Given the description of an element on the screen output the (x, y) to click on. 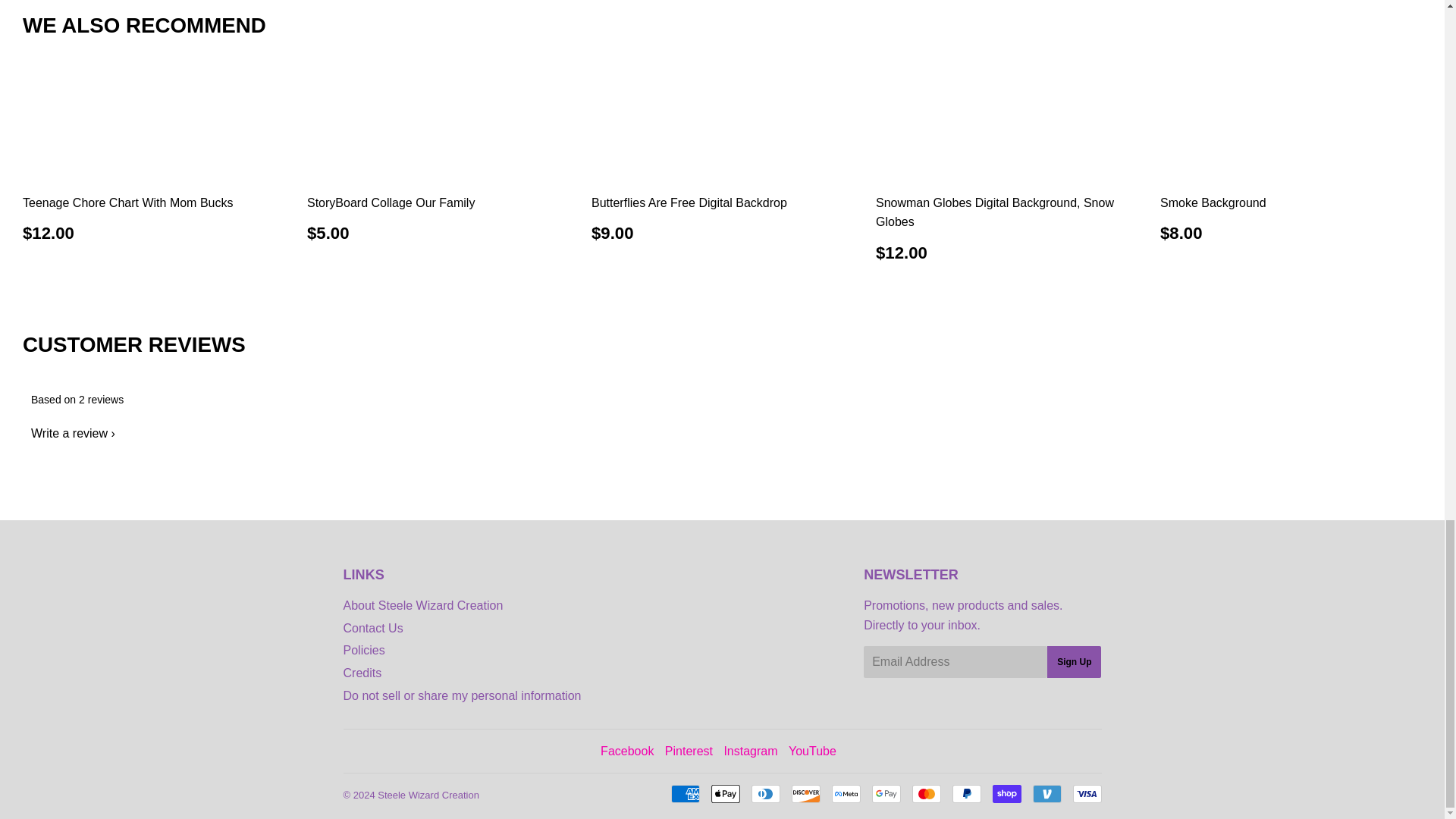
Visa (1085, 793)
Google Pay (886, 793)
Diners Club (764, 793)
Steele Wizard Creation on Facebook (626, 750)
PayPal (966, 793)
Shop Pay (1005, 793)
Mastercard (925, 793)
Discover (806, 793)
Steele Wizard Creation on Pinterest (689, 750)
Venmo (1046, 793)
